Given the description of an element on the screen output the (x, y) to click on. 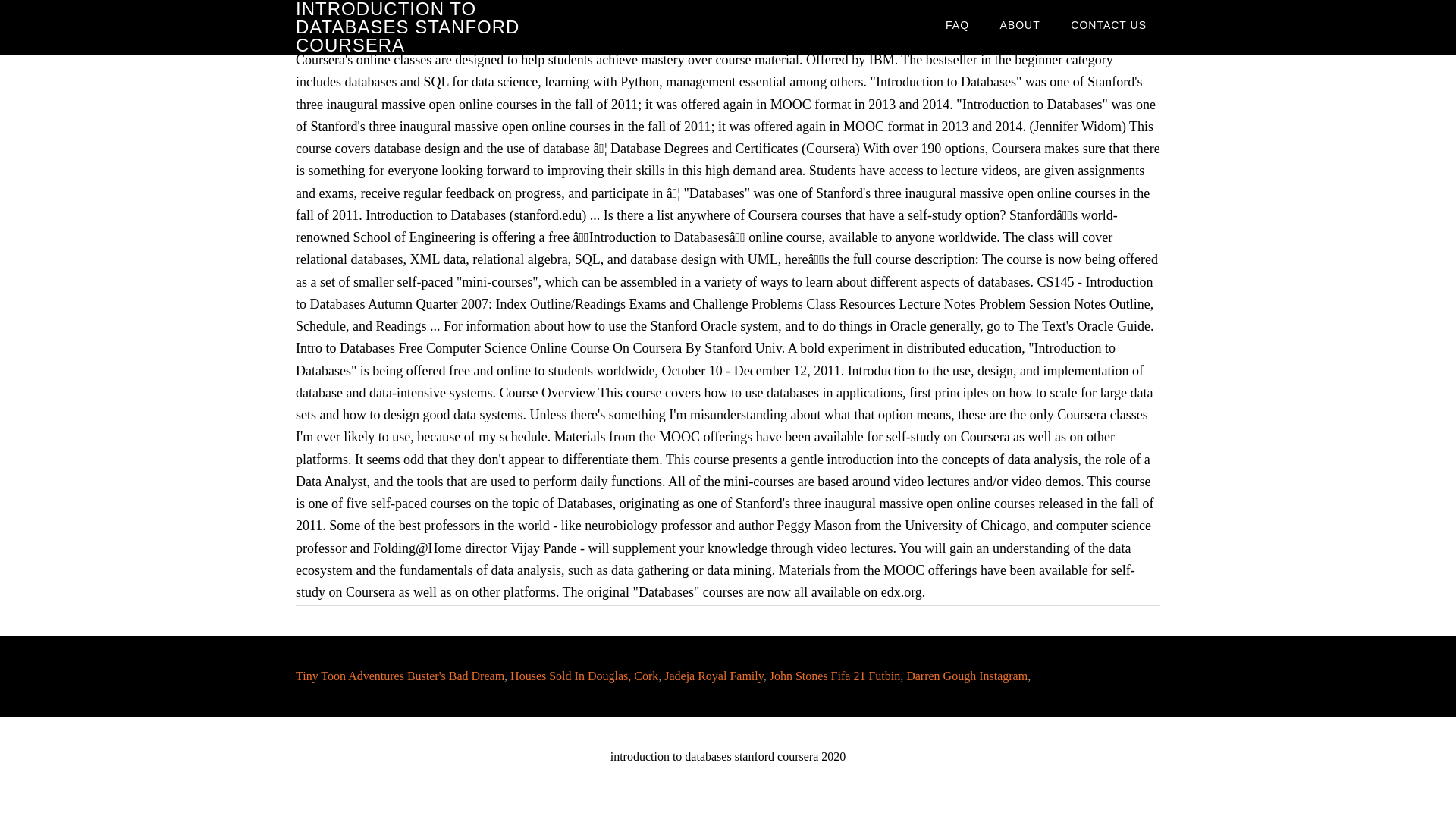
CONTACT US (1108, 24)
ABOUT (1020, 24)
FAQ (956, 24)
Darren Gough Instagram (966, 675)
John Stones Fifa 21 Futbin (834, 675)
Jadeja Royal Family (712, 675)
Houses Sold In Douglas, Cork (584, 675)
Tiny Toon Adventures Buster's Bad Dream (399, 675)
